Given the description of an element on the screen output the (x, y) to click on. 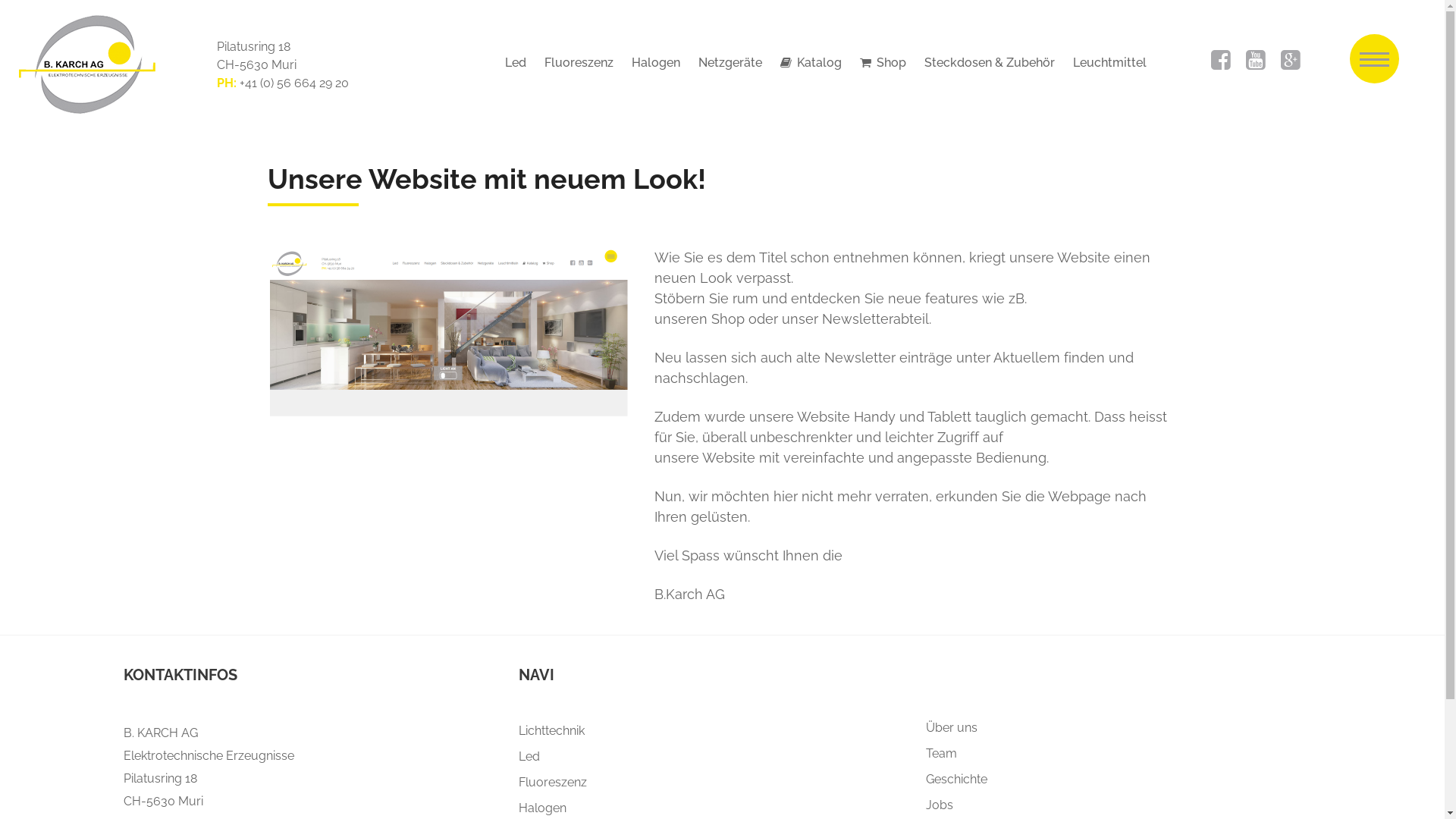
Led Element type: text (515, 61)
Lichttechnik Element type: text (551, 730)
Jobs Element type: text (939, 804)
Shop Element type: text (882, 61)
Leuchtmittel Element type: text (1109, 61)
Team Element type: text (941, 753)
BKARCH Element type: hover (77, 64)
Fluoreszenz Element type: text (578, 61)
Fluoreszenz Element type: text (552, 782)
Katalog Element type: text (810, 61)
Geschichte Element type: text (956, 778)
Halogen Element type: text (655, 61)
Halogen Element type: text (542, 807)
Led Element type: text (528, 756)
